Given the description of an element on the screen output the (x, y) to click on. 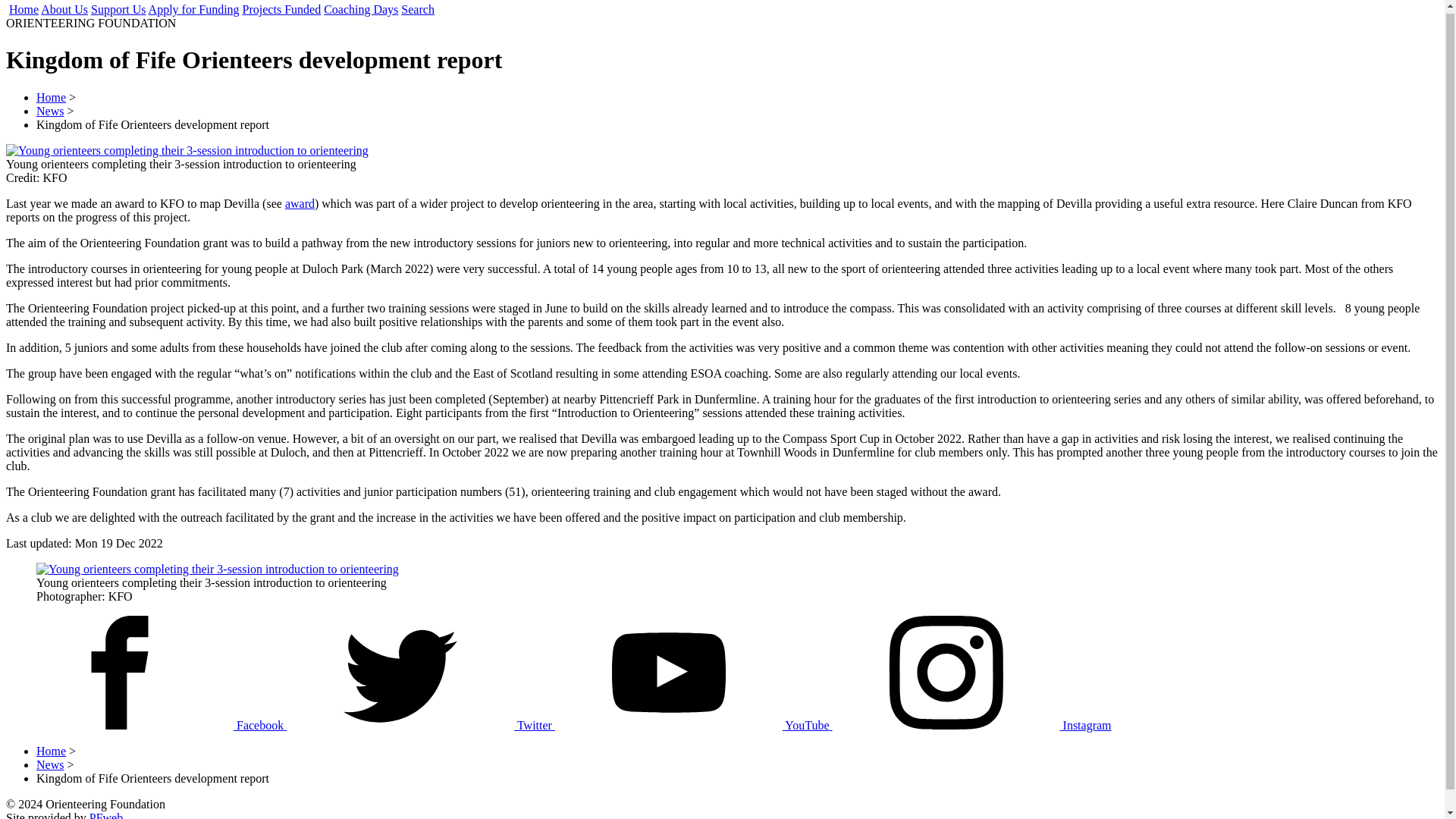
Return to the front page of this site (23, 9)
Find us on Facebook (145, 725)
Home (50, 750)
 YouTube (693, 725)
Follow us on Twitter (420, 725)
News (50, 764)
Support Us (117, 9)
Home (50, 97)
Coaching Days (360, 9)
award (299, 203)
Who are we (63, 9)
Search (417, 9)
News (50, 110)
 Instagram (972, 725)
About Us (63, 9)
